Given the description of an element on the screen output the (x, y) to click on. 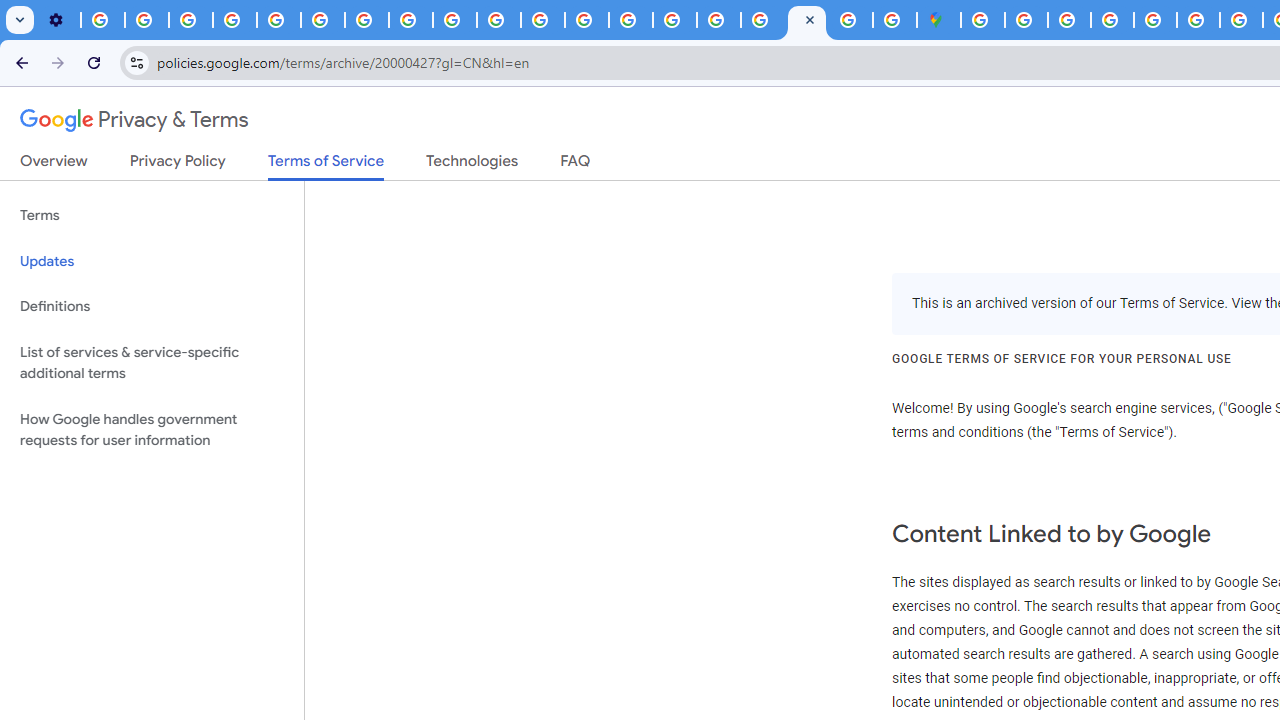
Delete photos & videos - Computer - Google Photos Help (102, 20)
Sign in - Google Accounts (982, 20)
Sign in - Google Accounts (762, 20)
Privacy Help Center - Policies Help (586, 20)
Privacy Help Center - Policies Help (1197, 20)
